Given the description of an element on the screen output the (x, y) to click on. 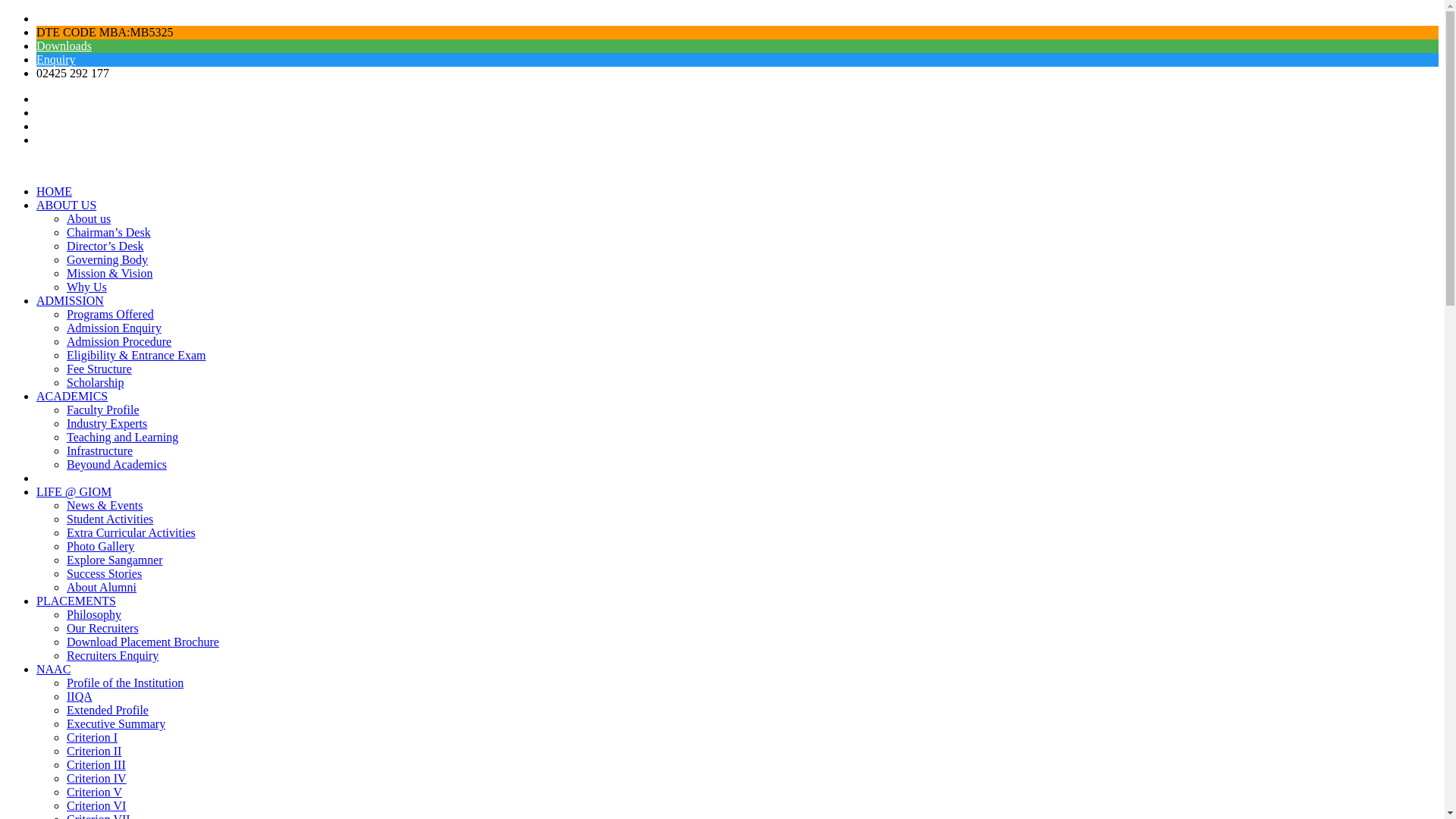
ABOUT US (66, 205)
Programs Offered (110, 314)
Beyound Academics (116, 463)
PLACEMENTS (76, 600)
Industry Experts (106, 422)
Philosophy (93, 614)
Downloads (63, 45)
Teaching and Learning (121, 436)
Fee Structure (99, 368)
Extra Curricular Activities (130, 532)
